Given the description of an element on the screen output the (x, y) to click on. 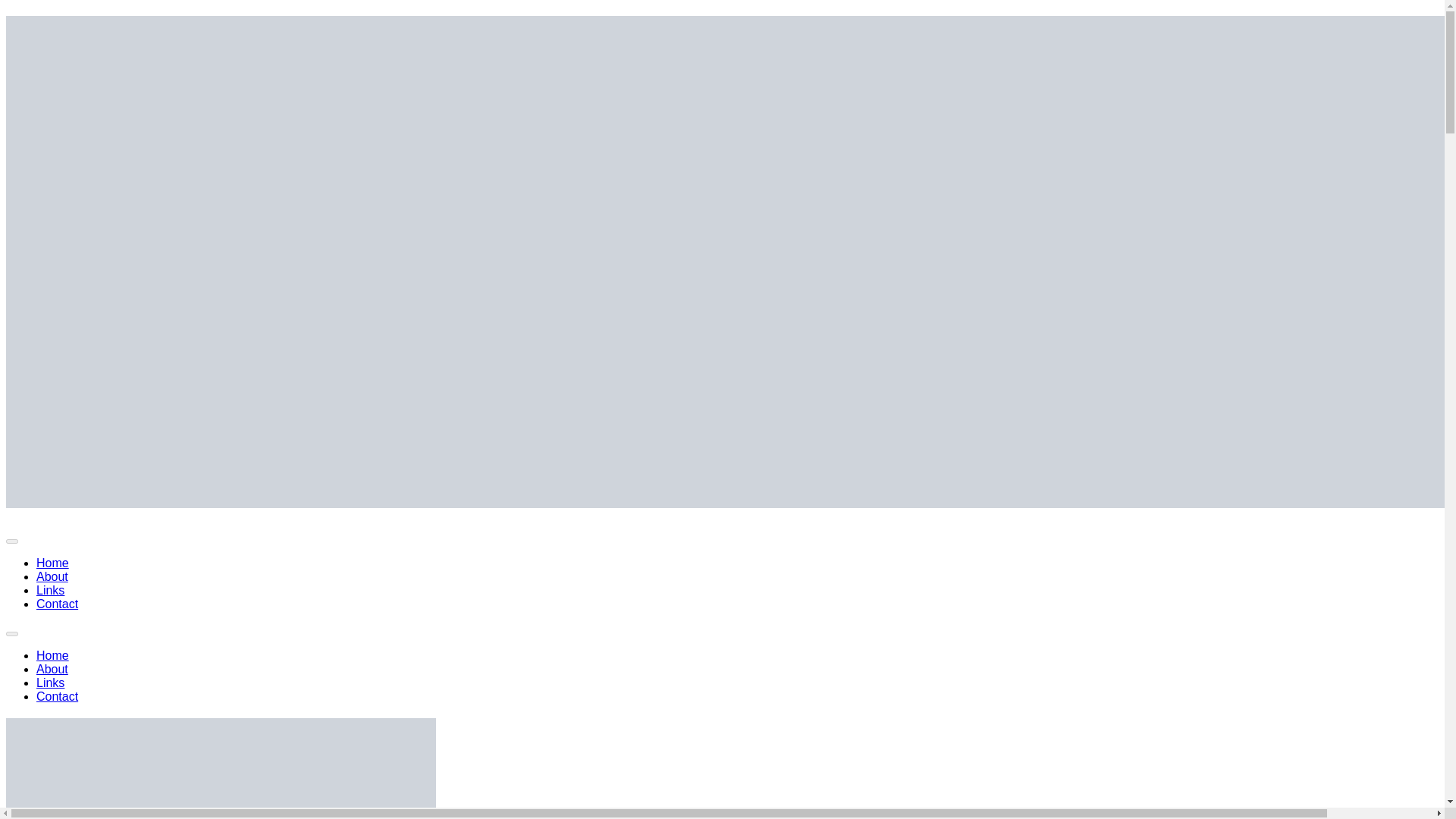
Links (52, 655)
Contact (50, 590)
Links (57, 696)
Expand Menu (50, 682)
Contact (11, 633)
About (57, 603)
Expand Menu (52, 576)
About (52, 562)
